Given the description of an element on the screen output the (x, y) to click on. 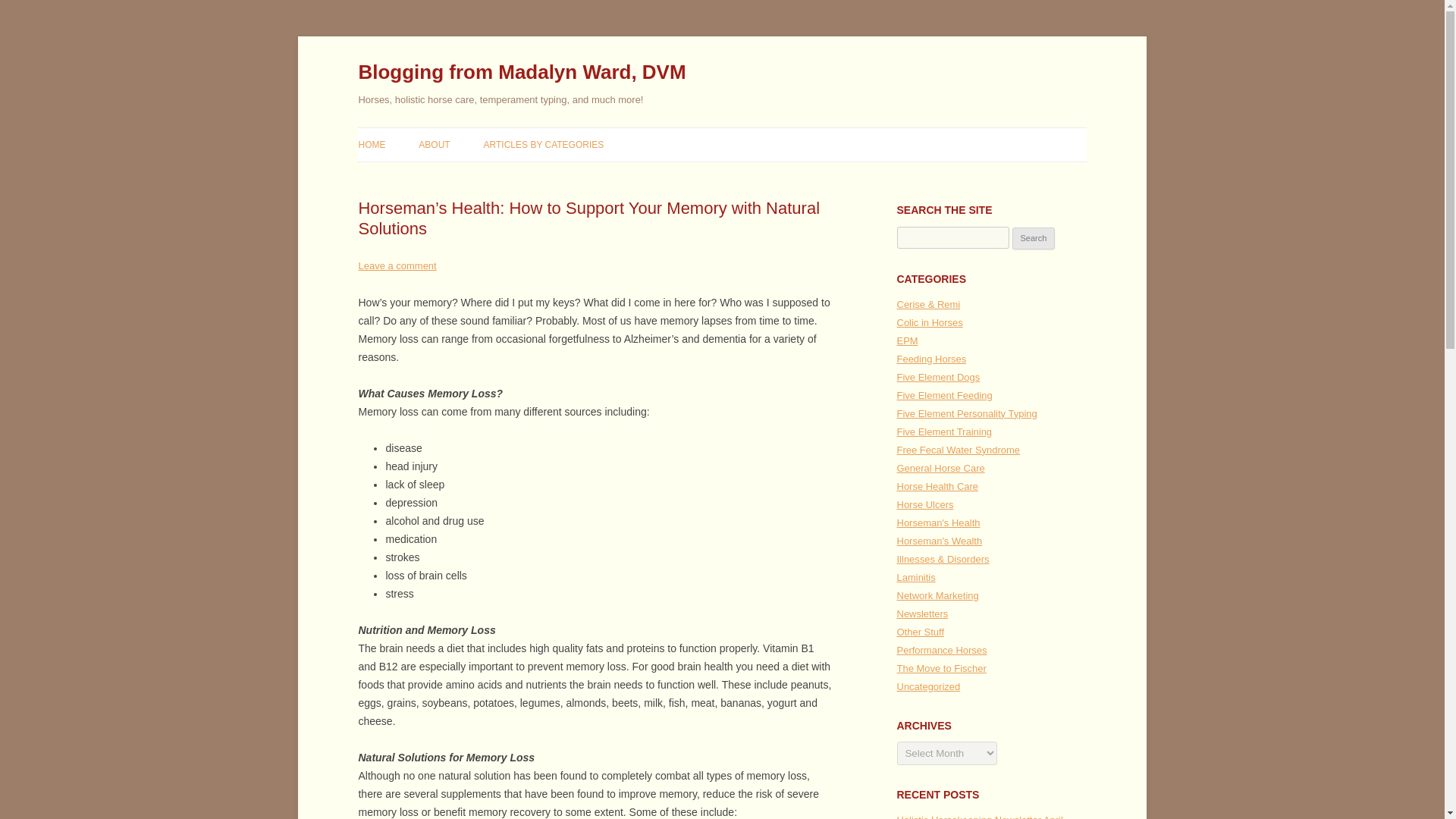
Blogging from Madalyn Ward, DVM (521, 72)
Blogging from Madalyn Ward, DVM (521, 72)
ABOUT (434, 144)
Leave a comment (396, 265)
Search (1033, 238)
ARTICLES BY CATEGORIES (543, 144)
Search (1033, 238)
